Given the description of an element on the screen output the (x, y) to click on. 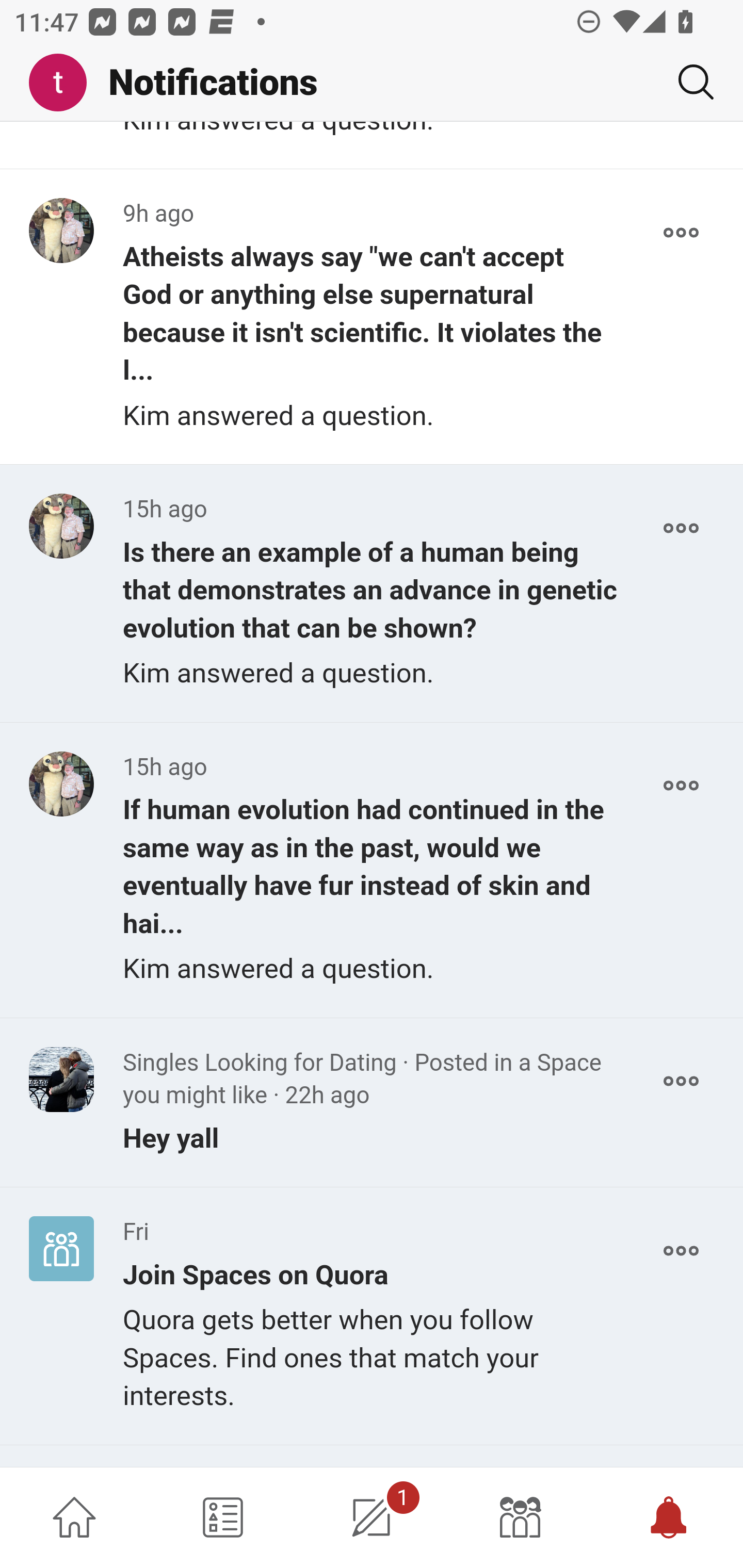
Me (64, 83)
Search (688, 82)
More (681, 232)
More (681, 528)
More (681, 785)
More (681, 1080)
More (681, 1250)
1 (371, 1517)
